Given the description of an element on the screen output the (x, y) to click on. 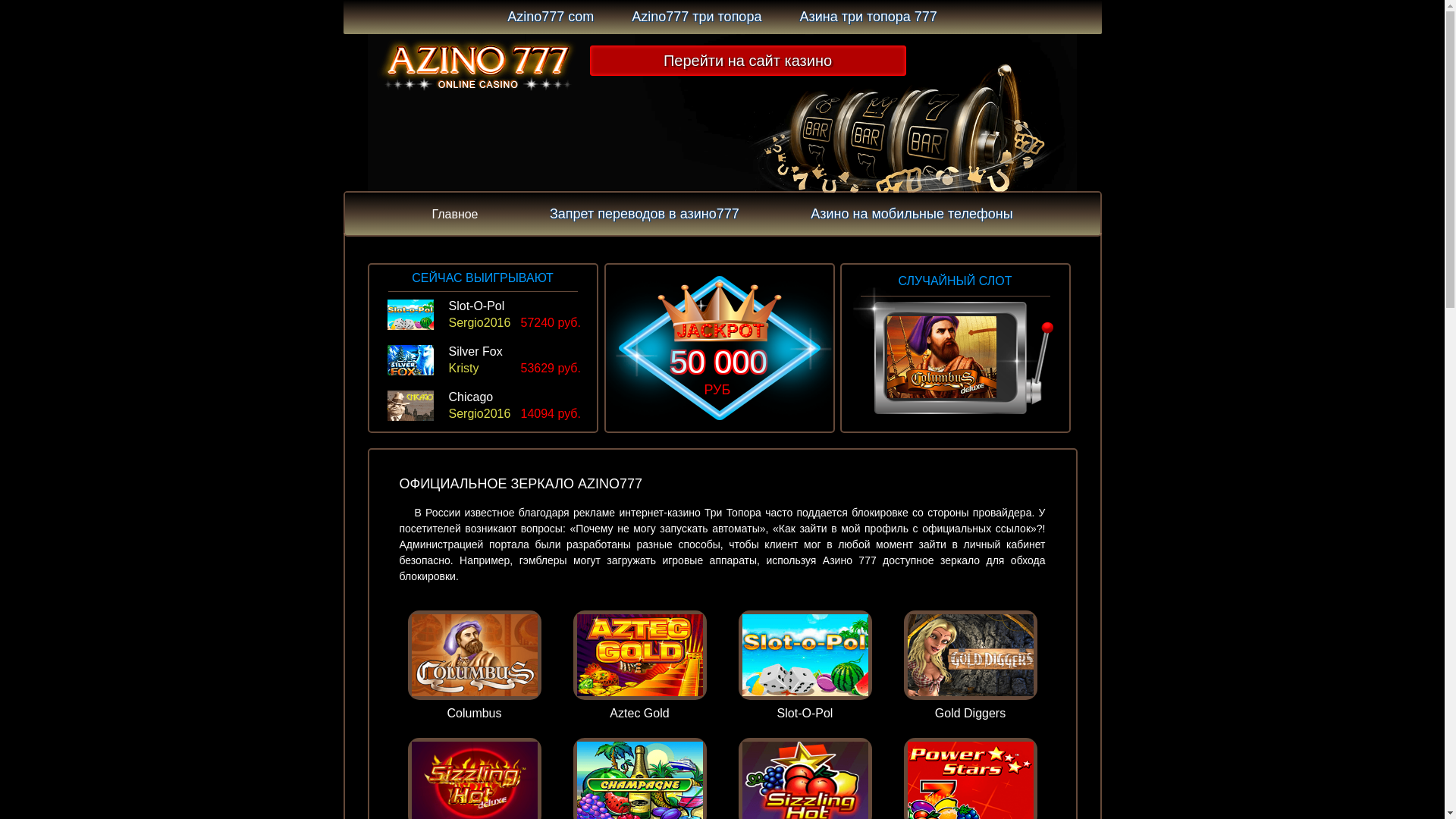
Azino777 com Element type: text (550, 16)
